Given the description of an element on the screen output the (x, y) to click on. 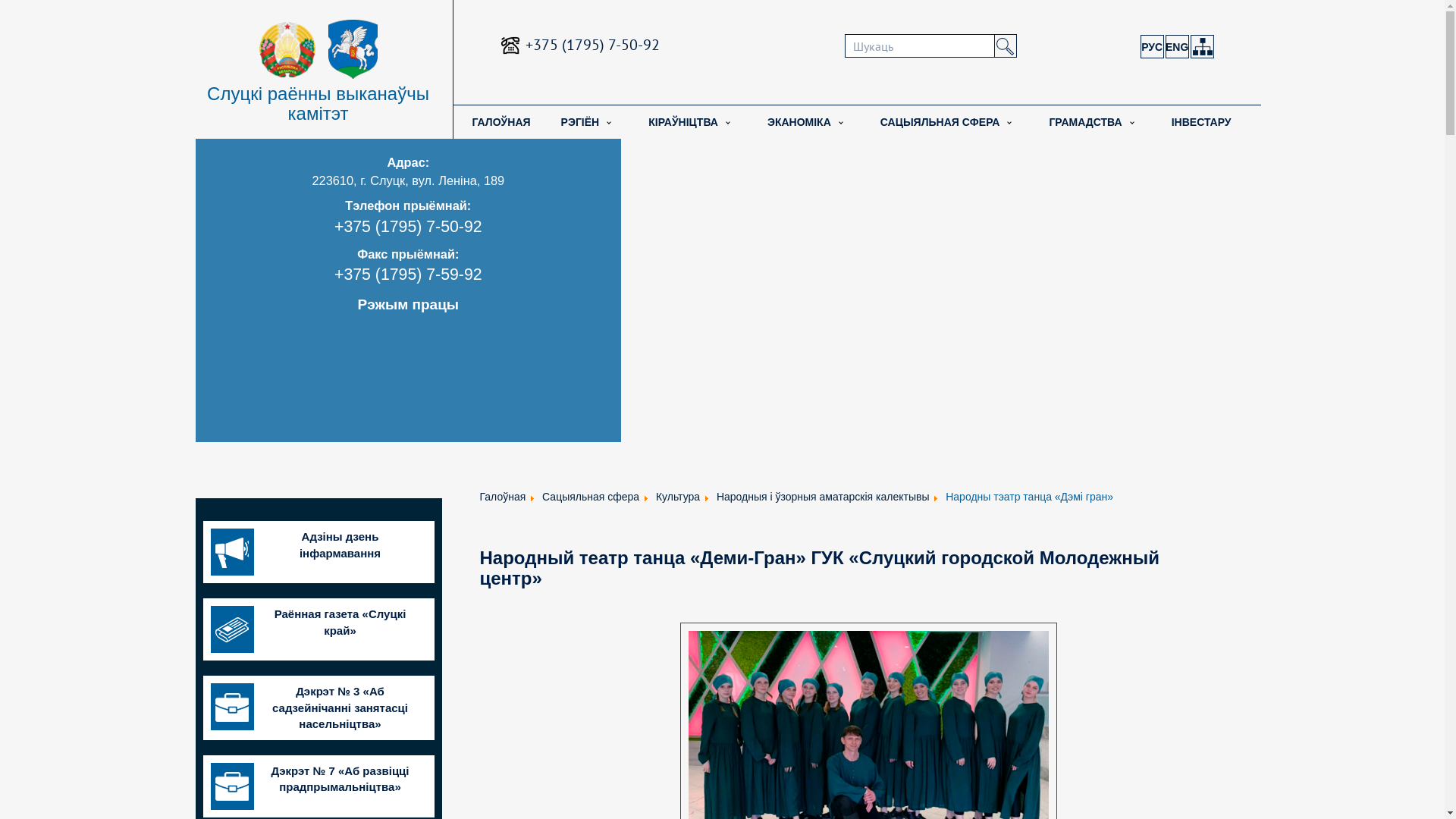
+375 (1795) 7-50-92 Element type: text (408, 226)
+375 (1795) 7-50-92 Element type: text (592, 44)
+375 (1795) 7-59-92 Element type: text (408, 274)
ENG Element type: text (1177, 46)
